Given the description of an element on the screen output the (x, y) to click on. 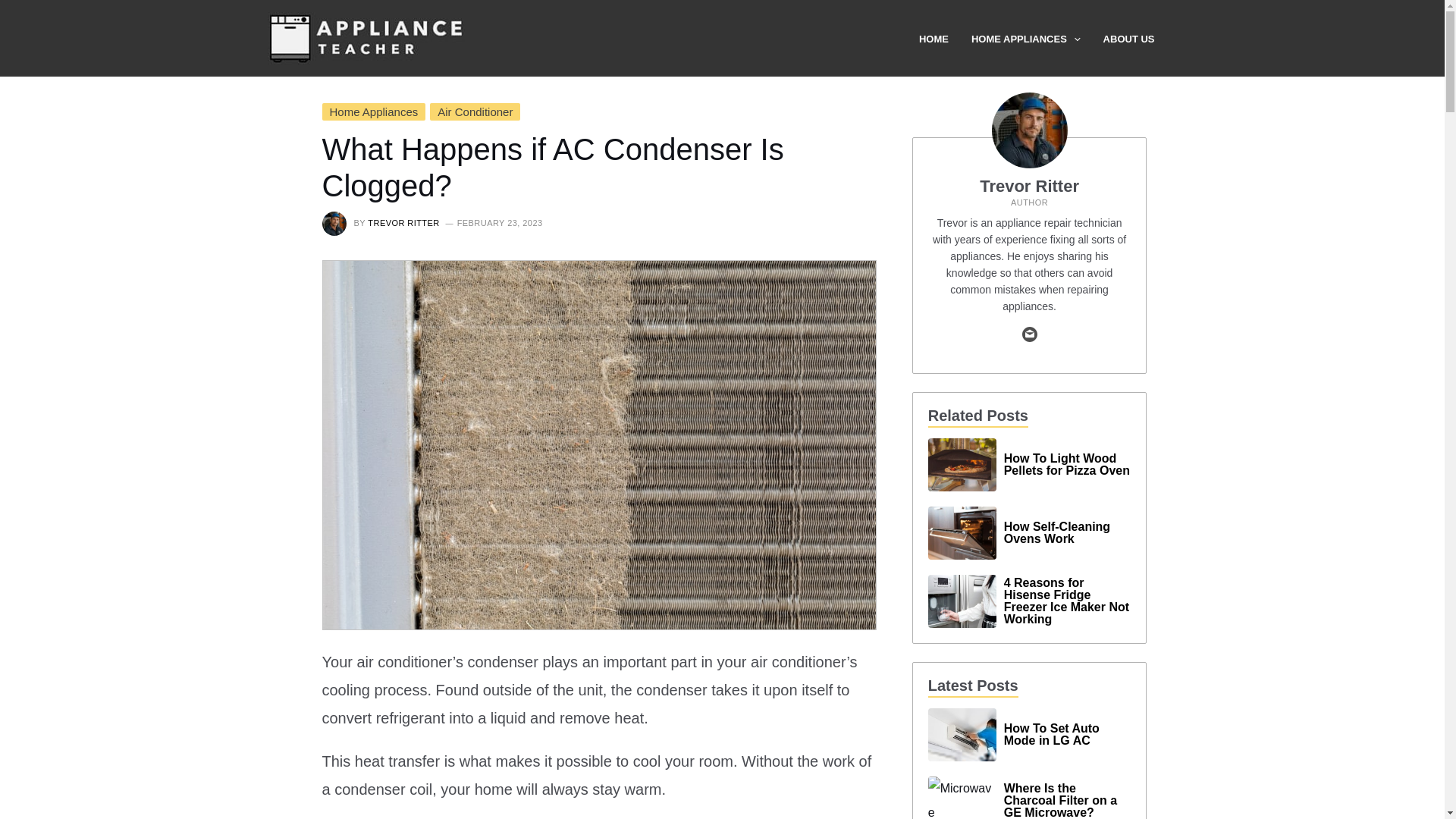
How To Light Wood Pellets For Pizza Oven 7 (961, 464)
HOME APPLIANCES (1037, 39)
4 Reasons For Hisense Fridge Freezer Ice Maker Not Working 9 (961, 601)
Where Is The Charcoal Filter On A Ge Microwave? 11 (961, 797)
How Self-Cleaning Ovens Work 8 (961, 532)
ABOUT US (1140, 39)
How To Set Auto Mode In Lg Ac 10 (961, 734)
HOME (944, 39)
